Given the description of an element on the screen output the (x, y) to click on. 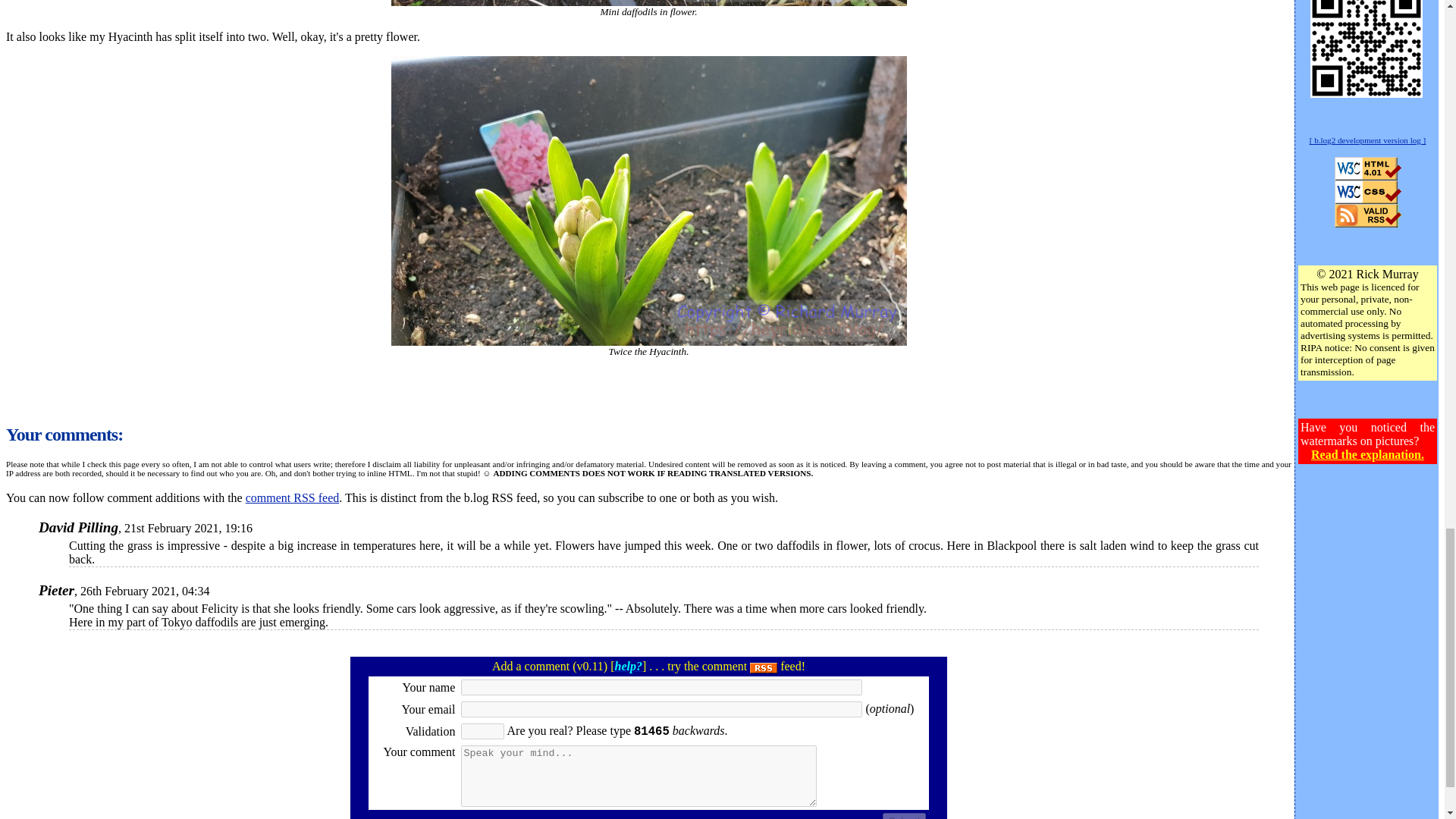
Submit (904, 816)
comment RSS feed (292, 497)
help? (628, 666)
Submit (904, 816)
